Given the description of an element on the screen output the (x, y) to click on. 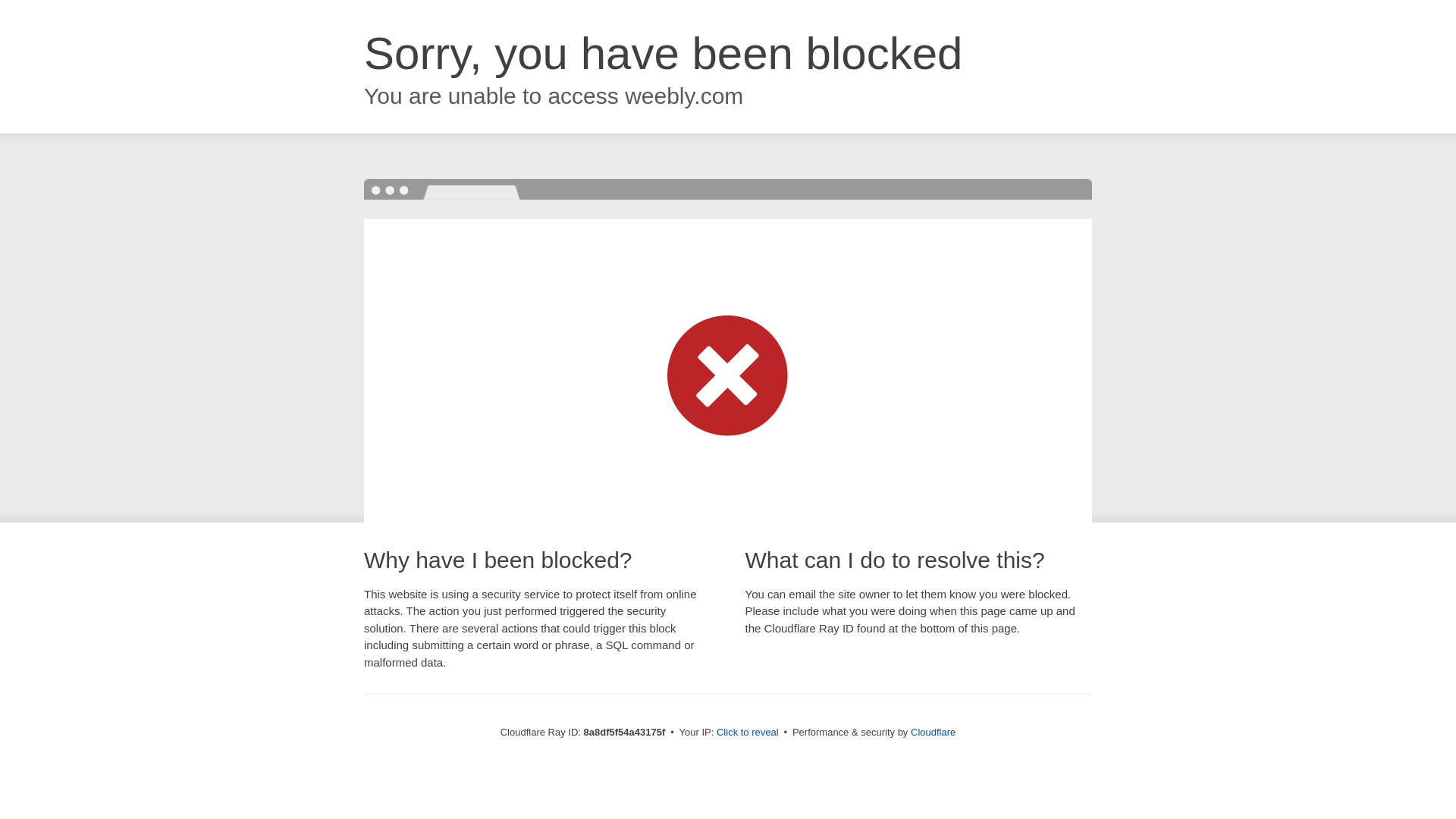
Click to reveal (747, 732)
Cloudflare (933, 731)
